Given the description of an element on the screen output the (x, y) to click on. 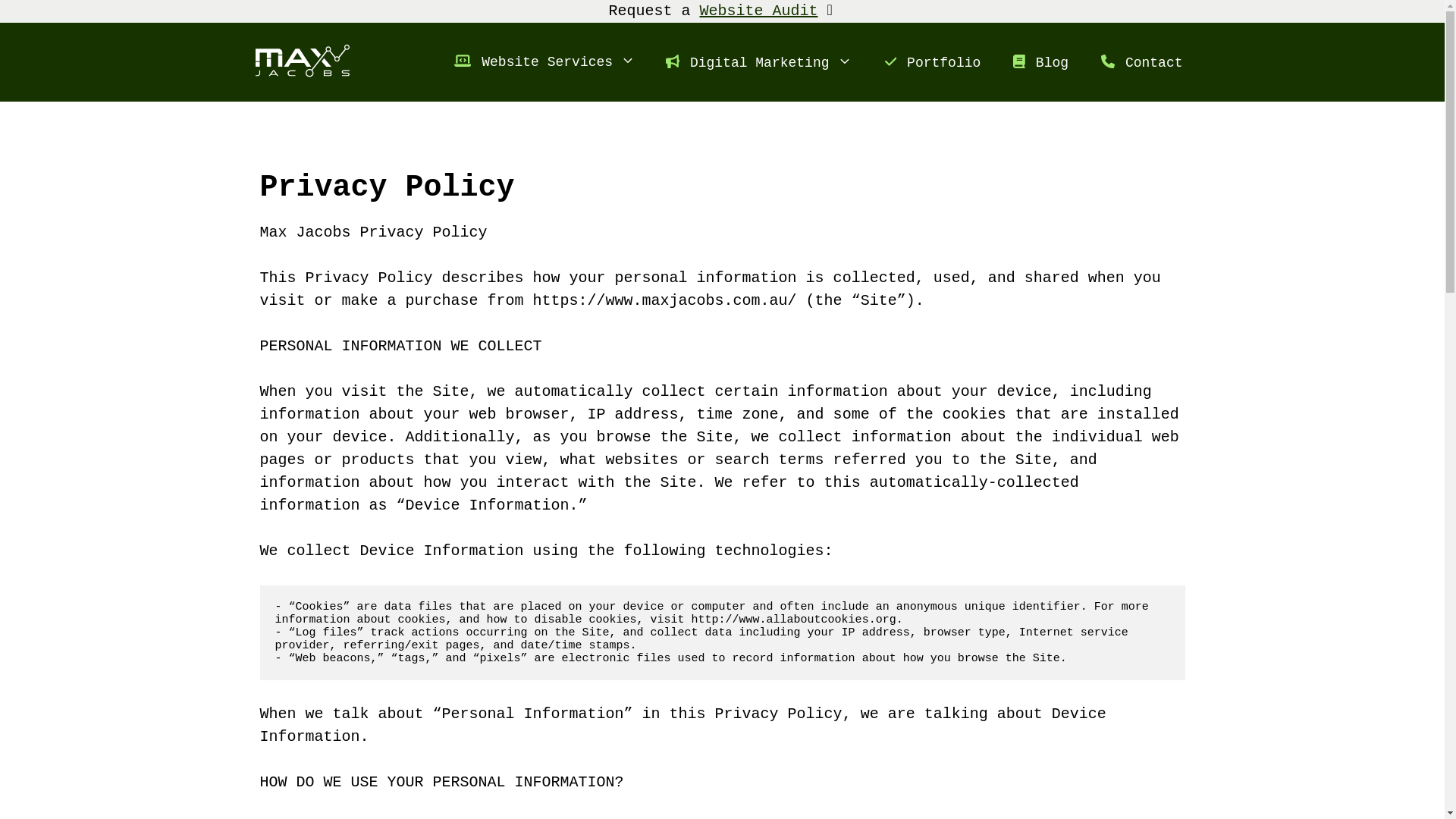
Website Audit Element type: text (758, 10)
